Given the description of an element on the screen output the (x, y) to click on. 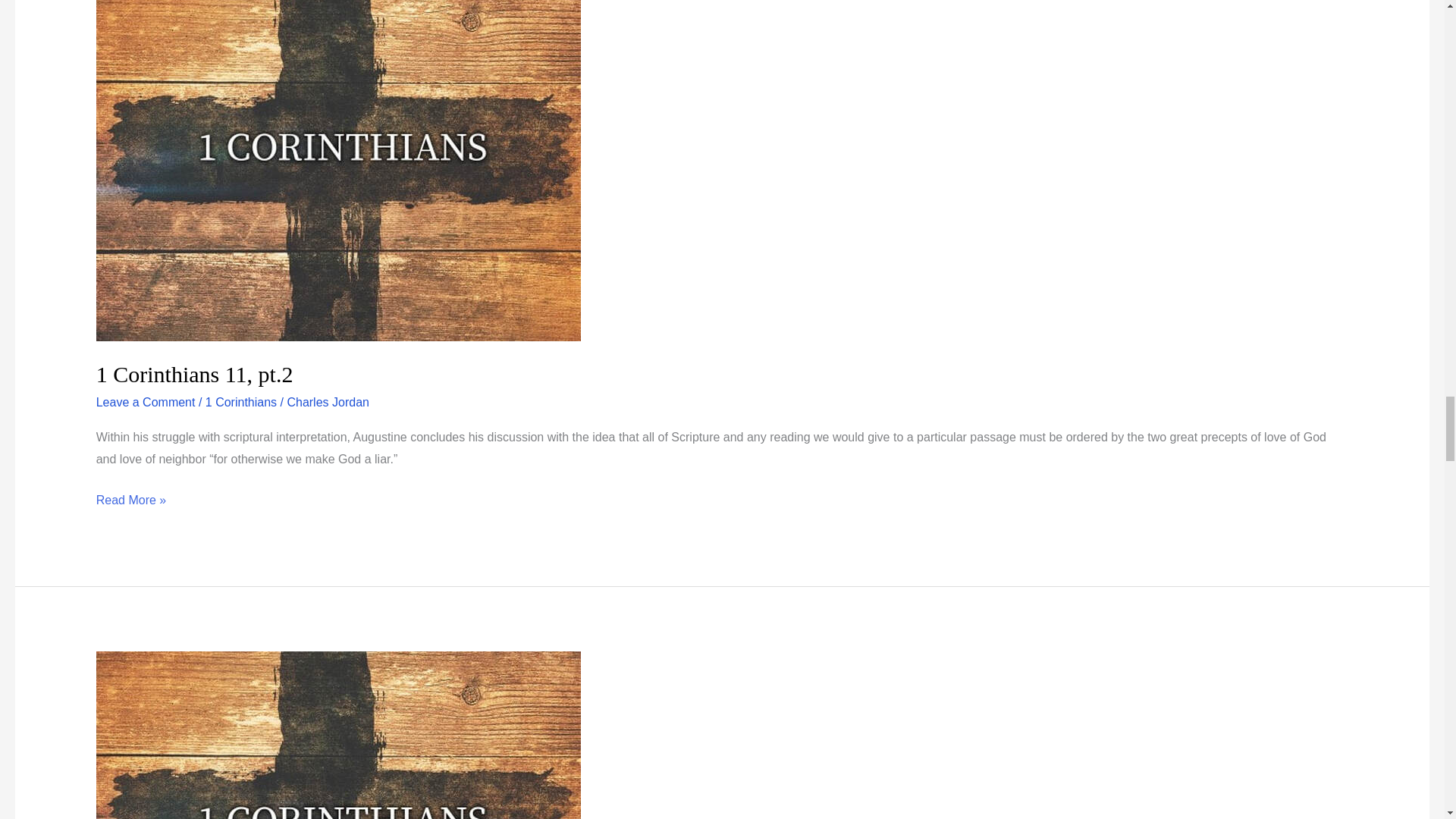
View all posts by Charles Jordan (327, 401)
